Given the description of an element on the screen output the (x, y) to click on. 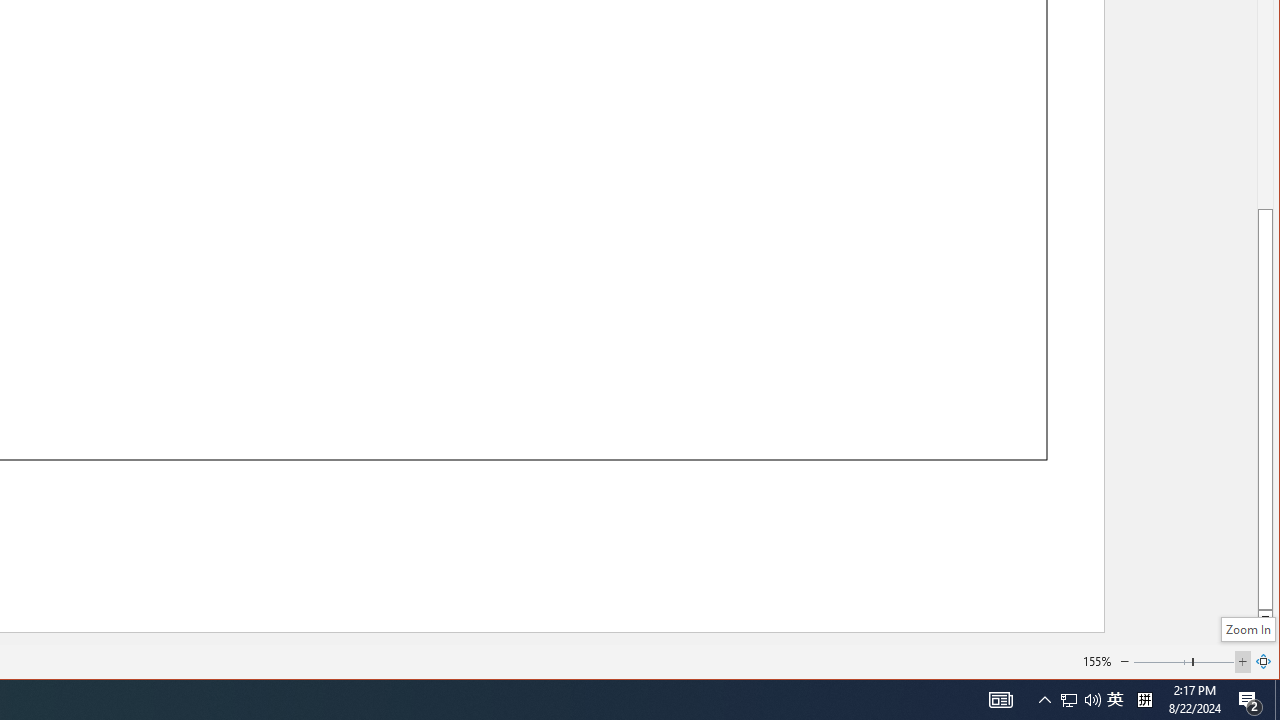
Tray Input Indicator - Chinese (Simplified, China) (1144, 699)
155% (1096, 660)
AutomationID: 4105 (1000, 699)
Q2790: 100% (1092, 699)
Action Center, 2 new notifications (1250, 699)
Notification Chevron (1044, 699)
User Promoted Notification Area (1115, 699)
Show desktop (1080, 699)
